Given the description of an element on the screen output the (x, y) to click on. 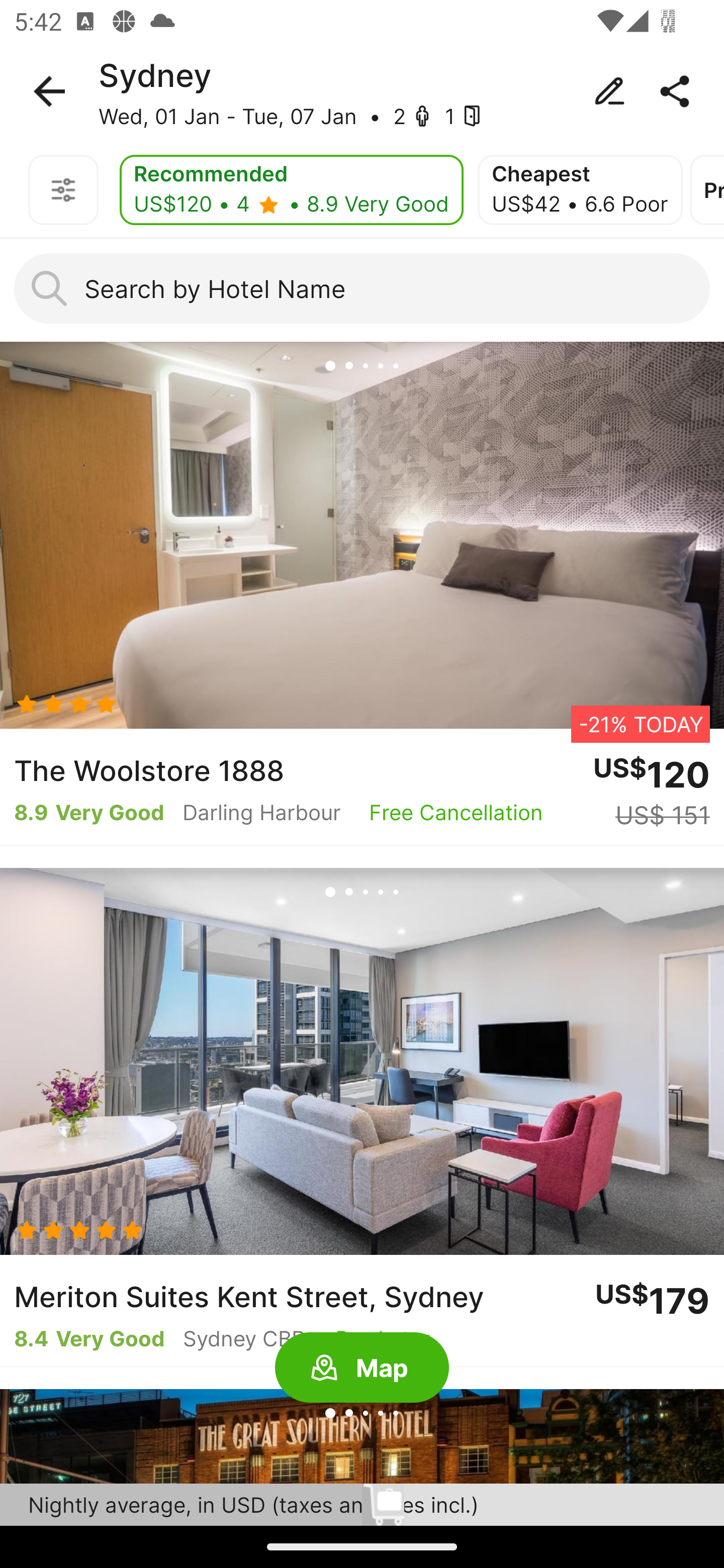
Sydney Wed, 01 Jan - Tue, 07 Jan  •  2 -  1 - (361, 91)
Recommended  US$120  • 4 - • 8.9 Very Good (291, 190)
Cheapest US$42  • 6.6 Poor (579, 190)
Search by Hotel Name  (361, 288)
Map  (361, 1367)
